Given the description of an element on the screen output the (x, y) to click on. 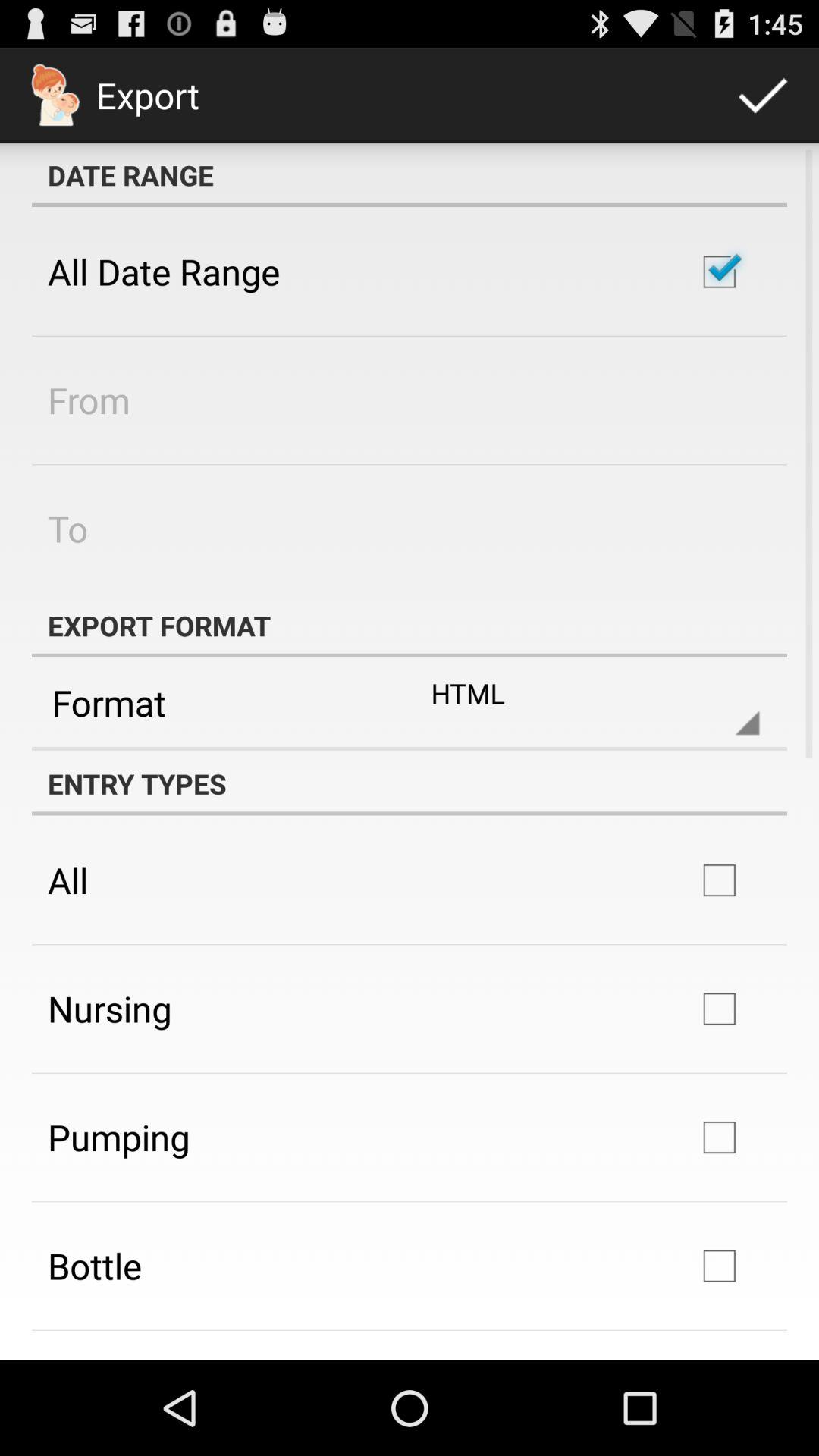
select the bottle icon (94, 1265)
